Given the description of an element on the screen output the (x, y) to click on. 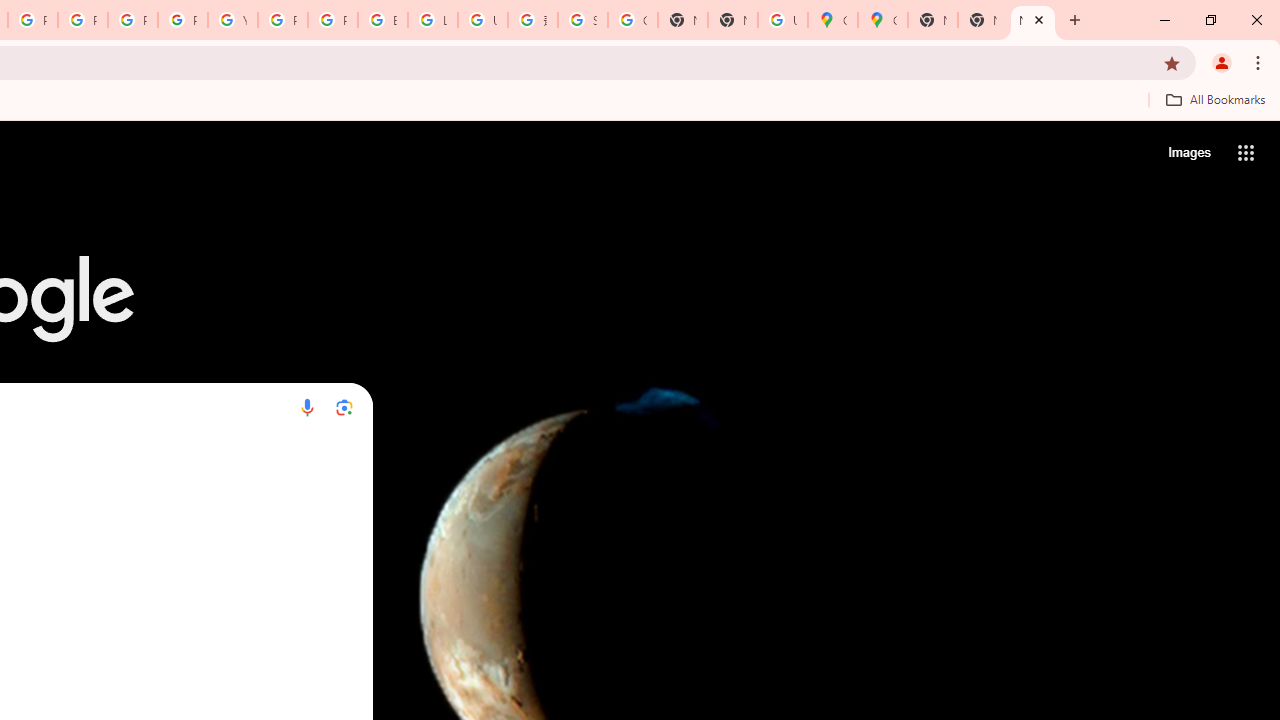
Use Google Maps in Space - Google Maps Help (782, 20)
New Tab (1032, 20)
